Given the description of an element on the screen output the (x, y) to click on. 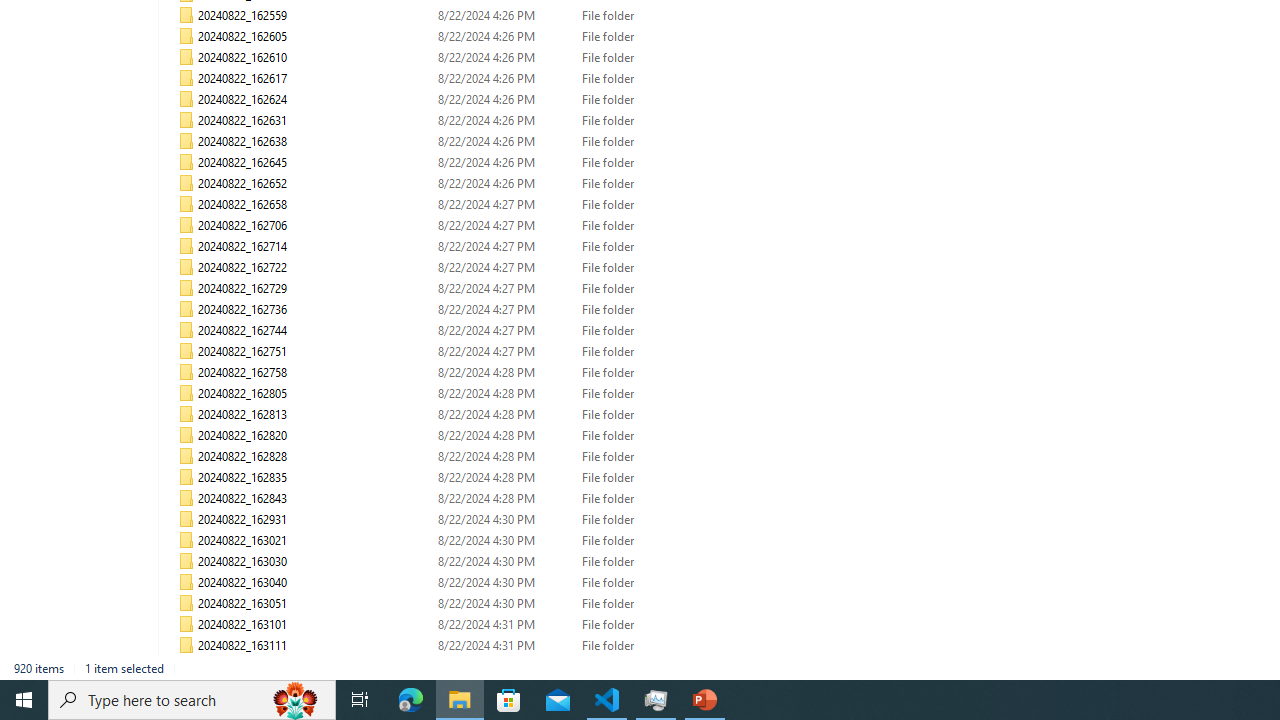
Class: UIImage (186, 666)
20240822_163101 (472, 624)
20240822_162714 (472, 246)
20240822_162617 (472, 78)
20240822_162722 (472, 268)
20240822_162624 (472, 99)
20240822_162744 (472, 330)
20240822_162706 (472, 225)
20240822_162645 (472, 162)
Name (313, 666)
20240822_162820 (472, 435)
20240822_163111 (472, 645)
20240822_162652 (472, 183)
20240822_163040 (472, 582)
20240822_162729 (472, 288)
